Given the description of an element on the screen output the (x, y) to click on. 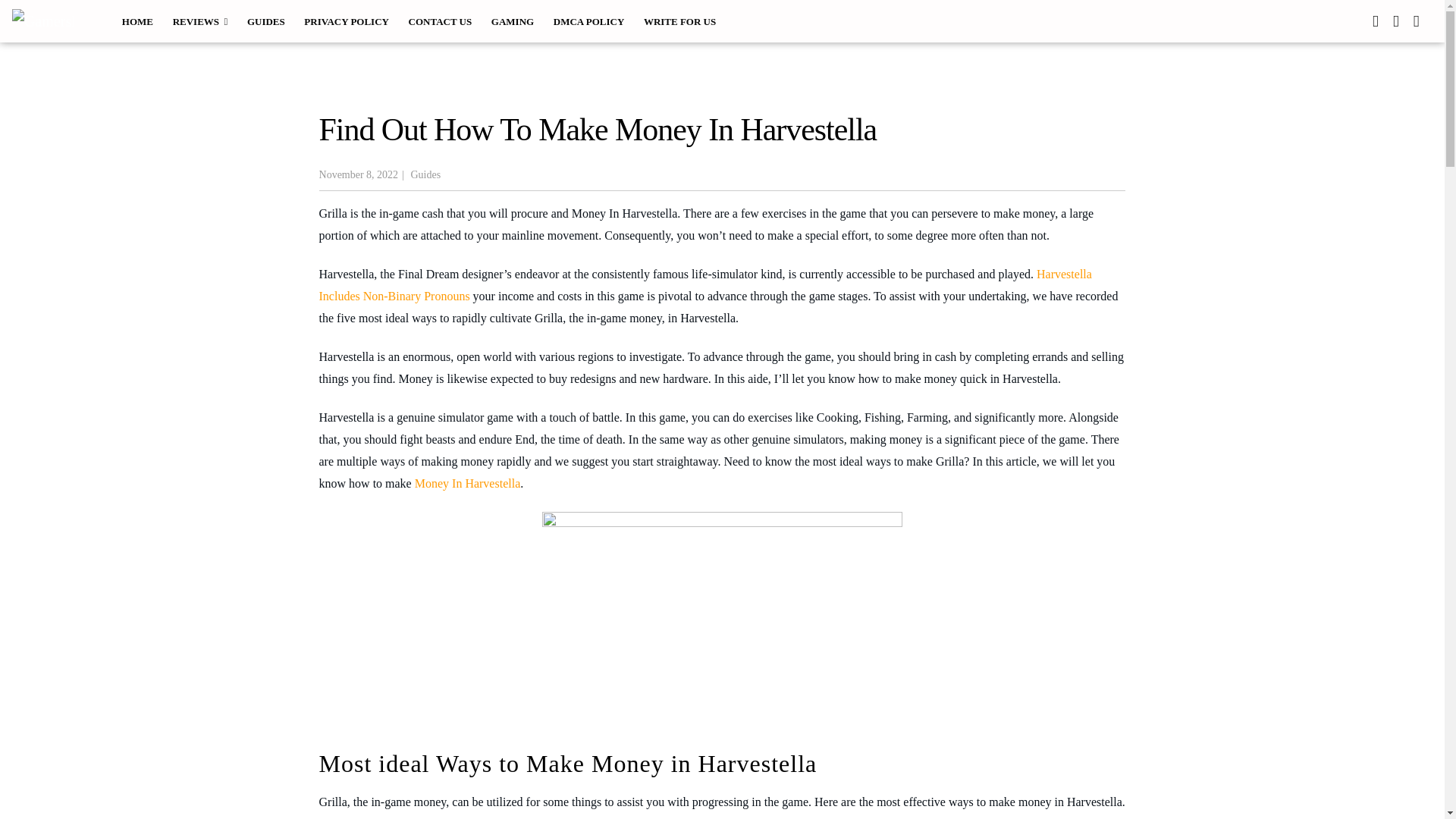
PRIVACY POLICY (346, 20)
DMCA POLICY (588, 20)
REVIEWS (200, 20)
GUIDES (265, 20)
GAMING (512, 20)
HOME (137, 20)
CONTACT US (439, 20)
Search (34, 17)
WRITE FOR US (679, 20)
